Given the description of an element on the screen output the (x, y) to click on. 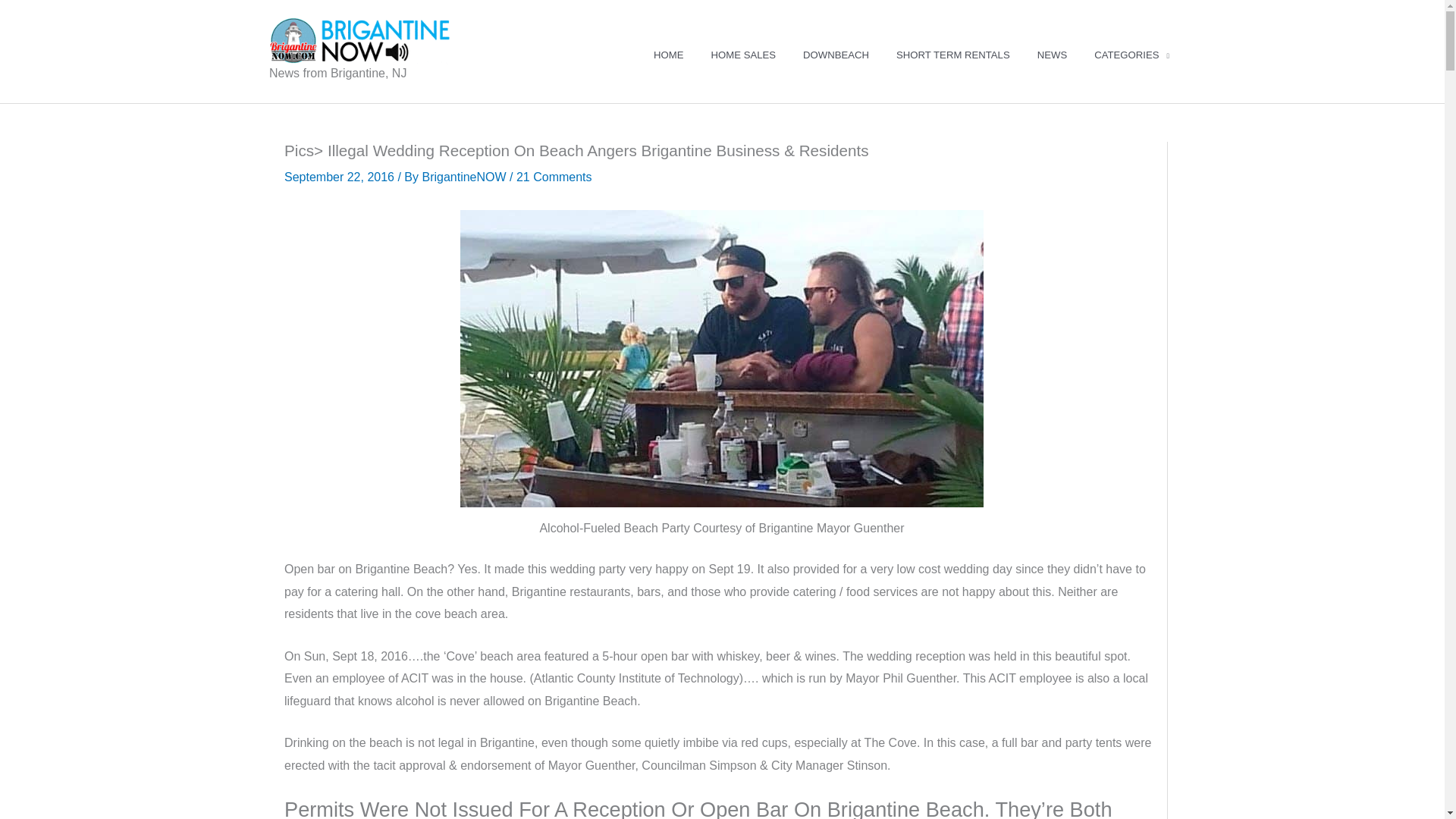
NEWS (1051, 54)
21 Comments (554, 176)
DOWNBEACH (835, 54)
BrigantineNOW (465, 176)
View all posts by BrigantineNOW (465, 176)
SHORT TERM RENTALS (952, 54)
CATEGORIES (1131, 54)
HOME SALES (743, 54)
HOME (668, 54)
